Given the description of an element on the screen output the (x, y) to click on. 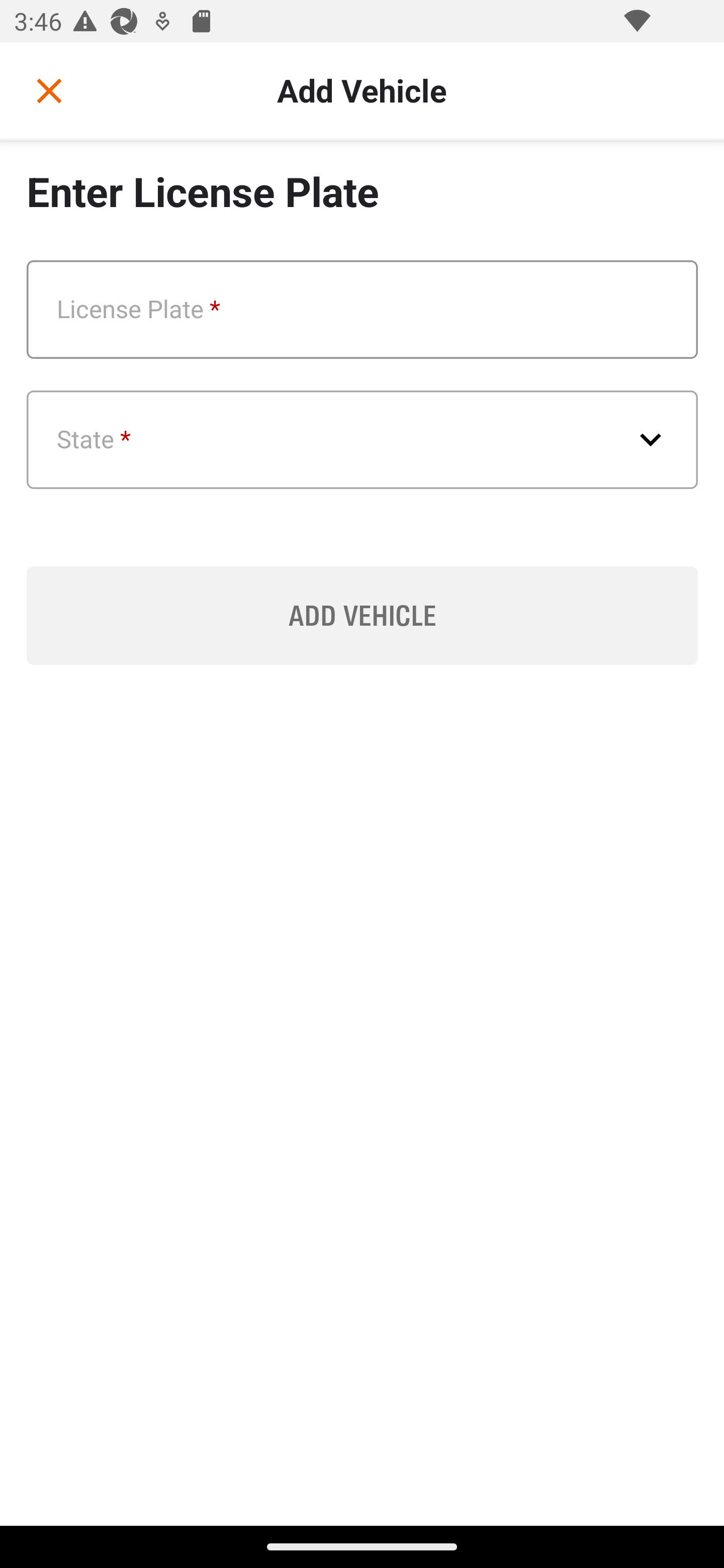
Go back  (49, 89)
License Plate required License Plate * (361, 309)
state selector, collapsed State *  (362, 439)
Add Vehicle ADD VEHICLE (361, 615)
